Given the description of an element on the screen output the (x, y) to click on. 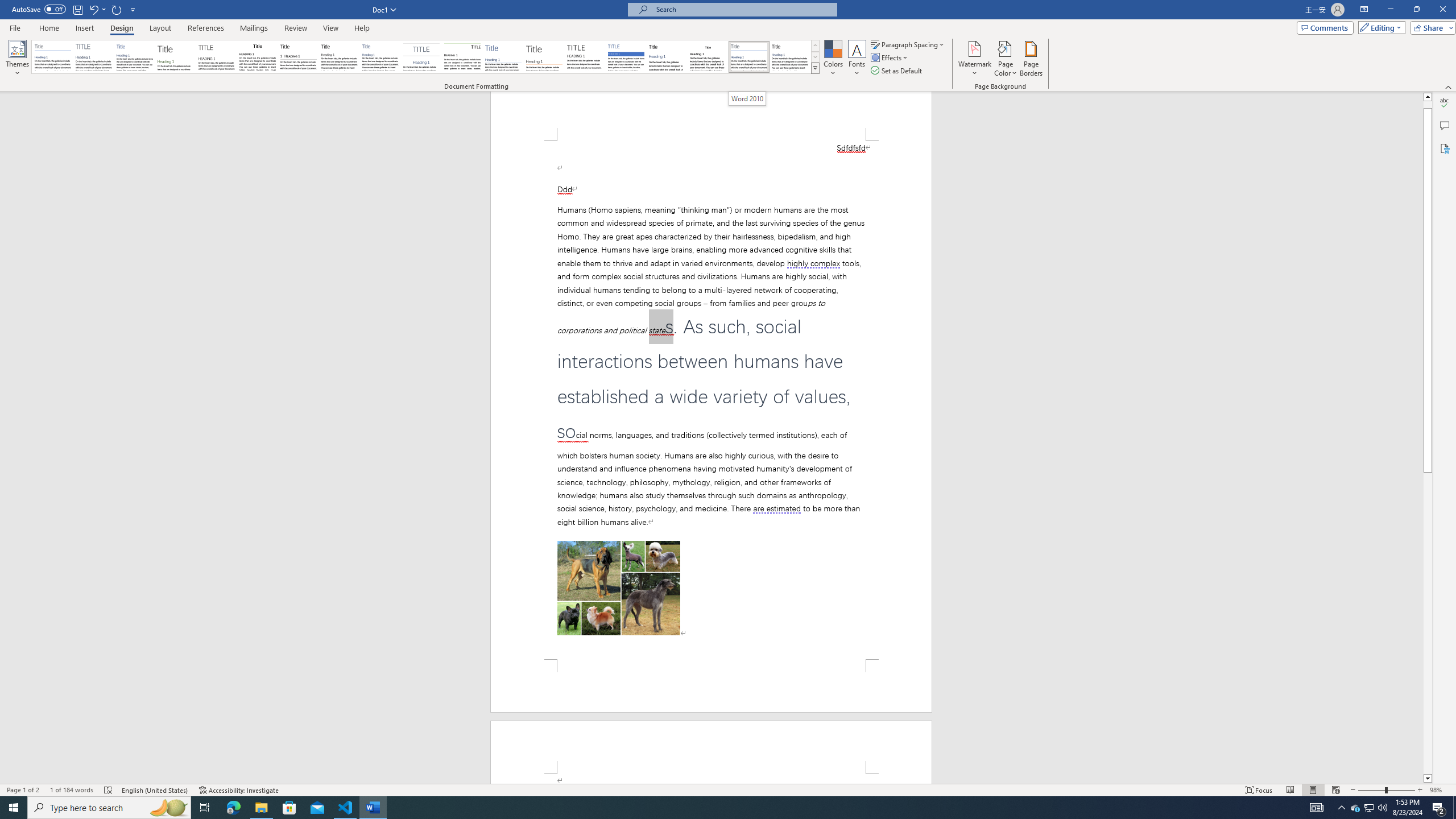
Word 2010 (749, 56)
Accessibility (1444, 147)
Casual (379, 56)
Black & White (Word 2013) (338, 56)
Fonts (856, 58)
Page Borders... (1031, 58)
Editing (1379, 27)
